Given the description of an element on the screen output the (x, y) to click on. 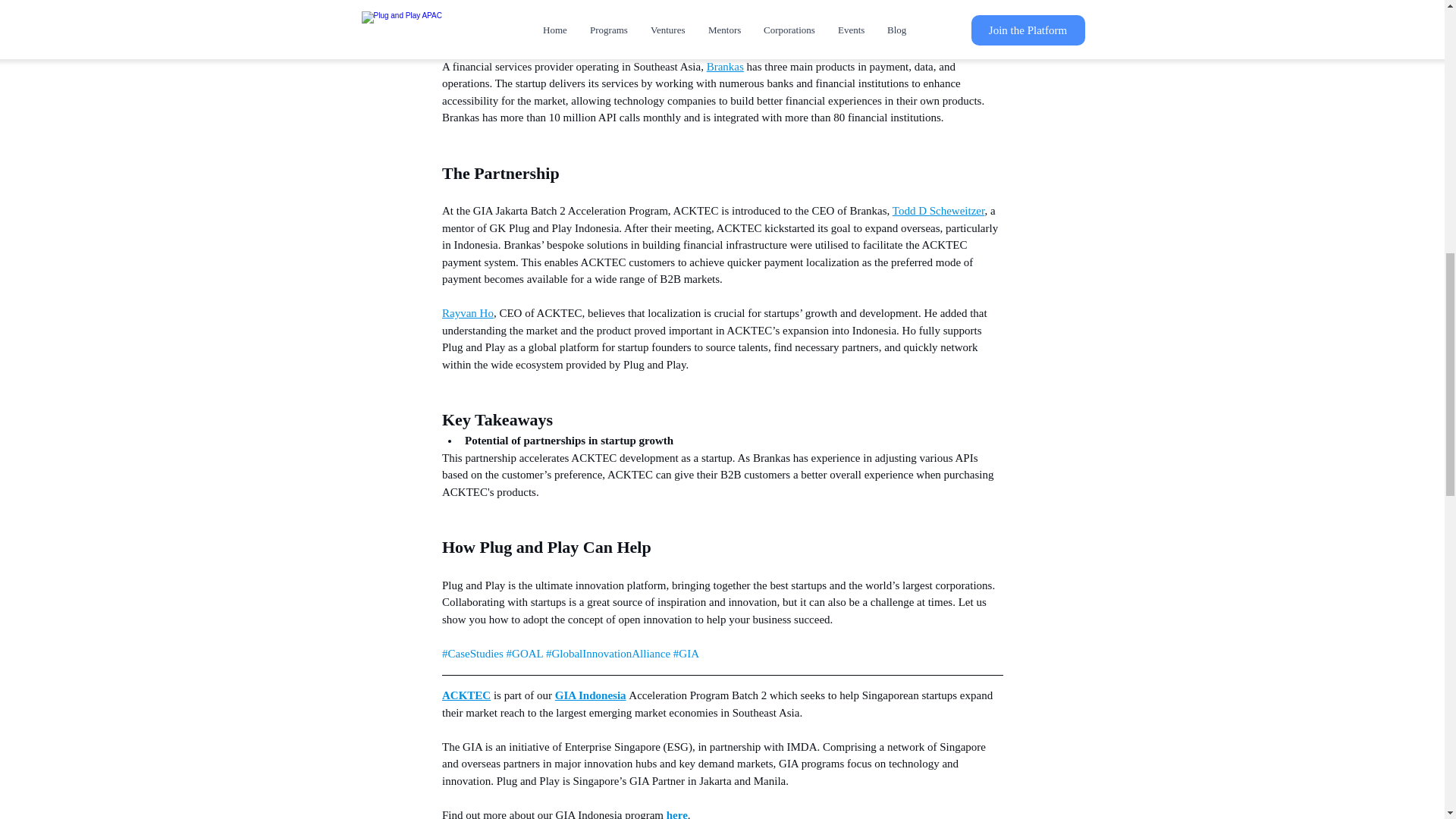
Brankas (724, 66)
Rayvan Ho (467, 313)
GIA Indonesia (590, 695)
here (676, 814)
Todd D Scheweitzer (937, 210)
ACKTEC (465, 695)
